Given the description of an element on the screen output the (x, y) to click on. 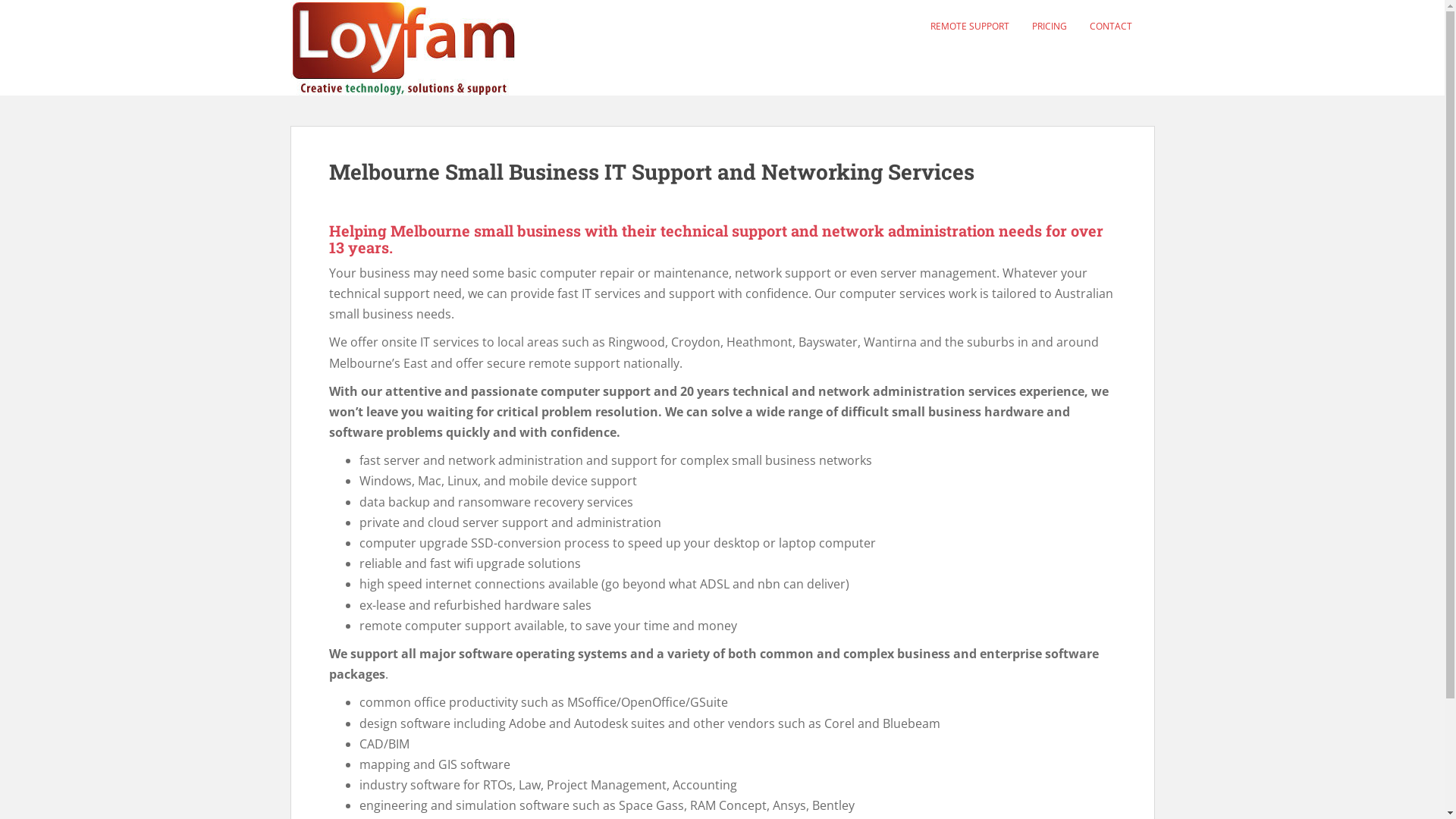
PRICING Element type: text (1048, 26)
CONTACT Element type: text (1109, 26)
REMOTE SUPPORT Element type: text (968, 26)
